Given the description of an element on the screen output the (x, y) to click on. 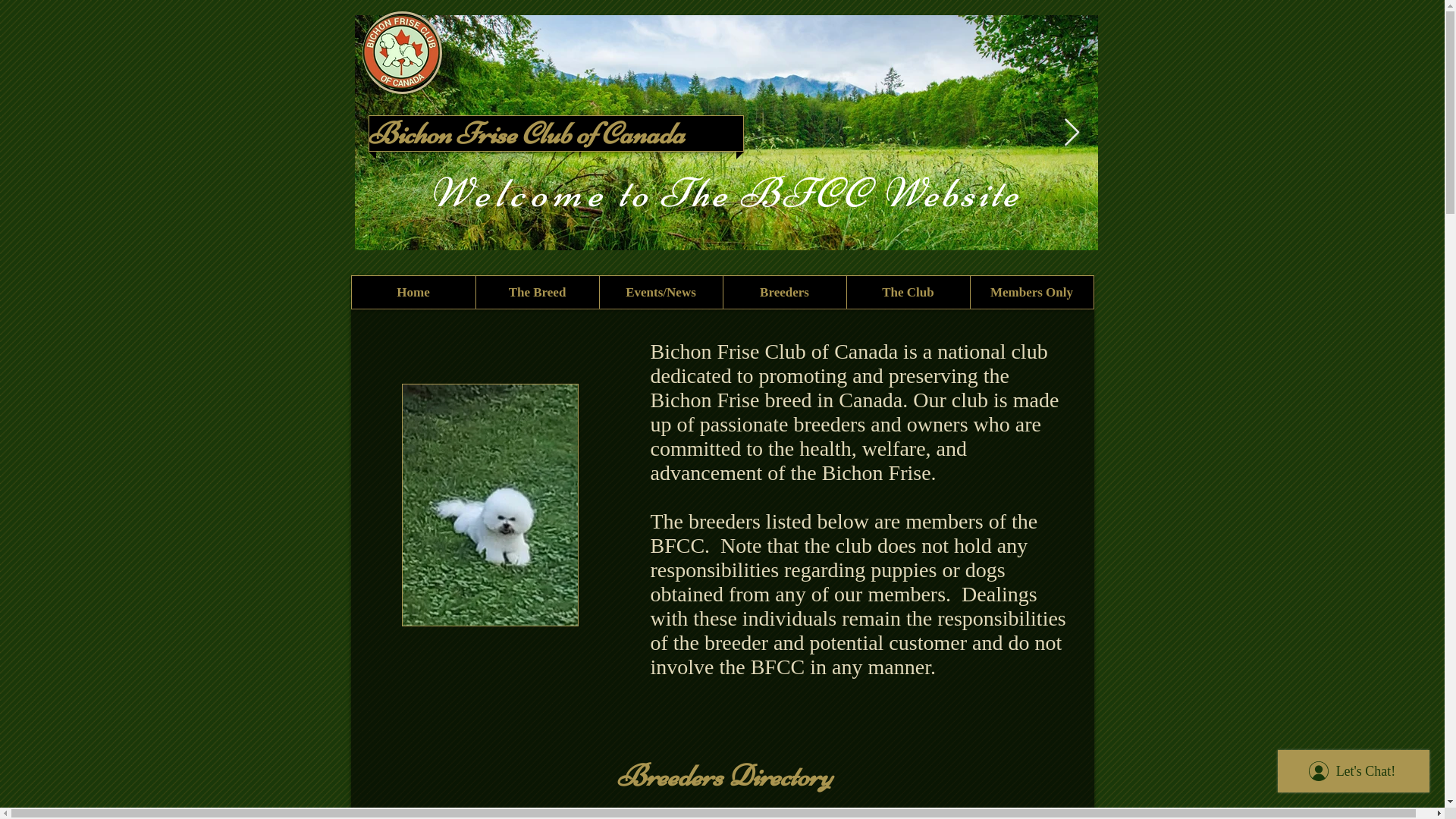
Home Element type: text (413, 292)
Members Only Element type: text (1030, 292)
Events/News Element type: text (660, 292)
The Breed Element type: text (536, 292)
Breeders Element type: text (783, 292)
Wix Chat Element type: hover (1357, 774)
The Club Element type: text (907, 292)
